Given the description of an element on the screen output the (x, y) to click on. 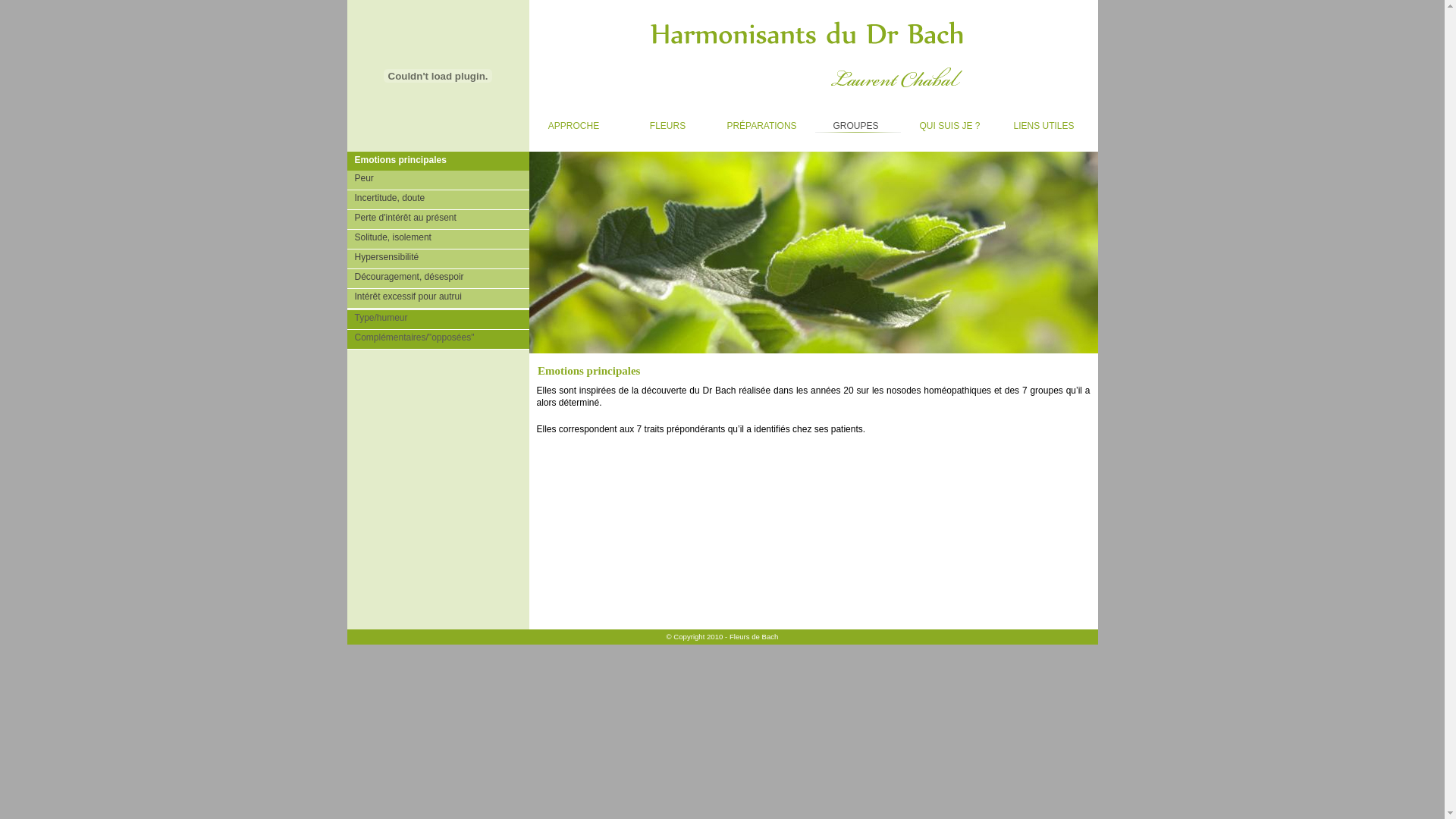
Solitude, isolement Element type: text (438, 238)
Type/humeur Element type: text (438, 319)
GROUPES Element type: text (858, 122)
APPROCHE Element type: text (576, 122)
QUI SUIS JE ? Element type: text (952, 122)
FLEURS Element type: text (670, 122)
Incertitude, doute Element type: text (438, 199)
Peur Element type: text (438, 179)
LIENS UTILES Element type: text (1046, 122)
